Given the description of an element on the screen output the (x, y) to click on. 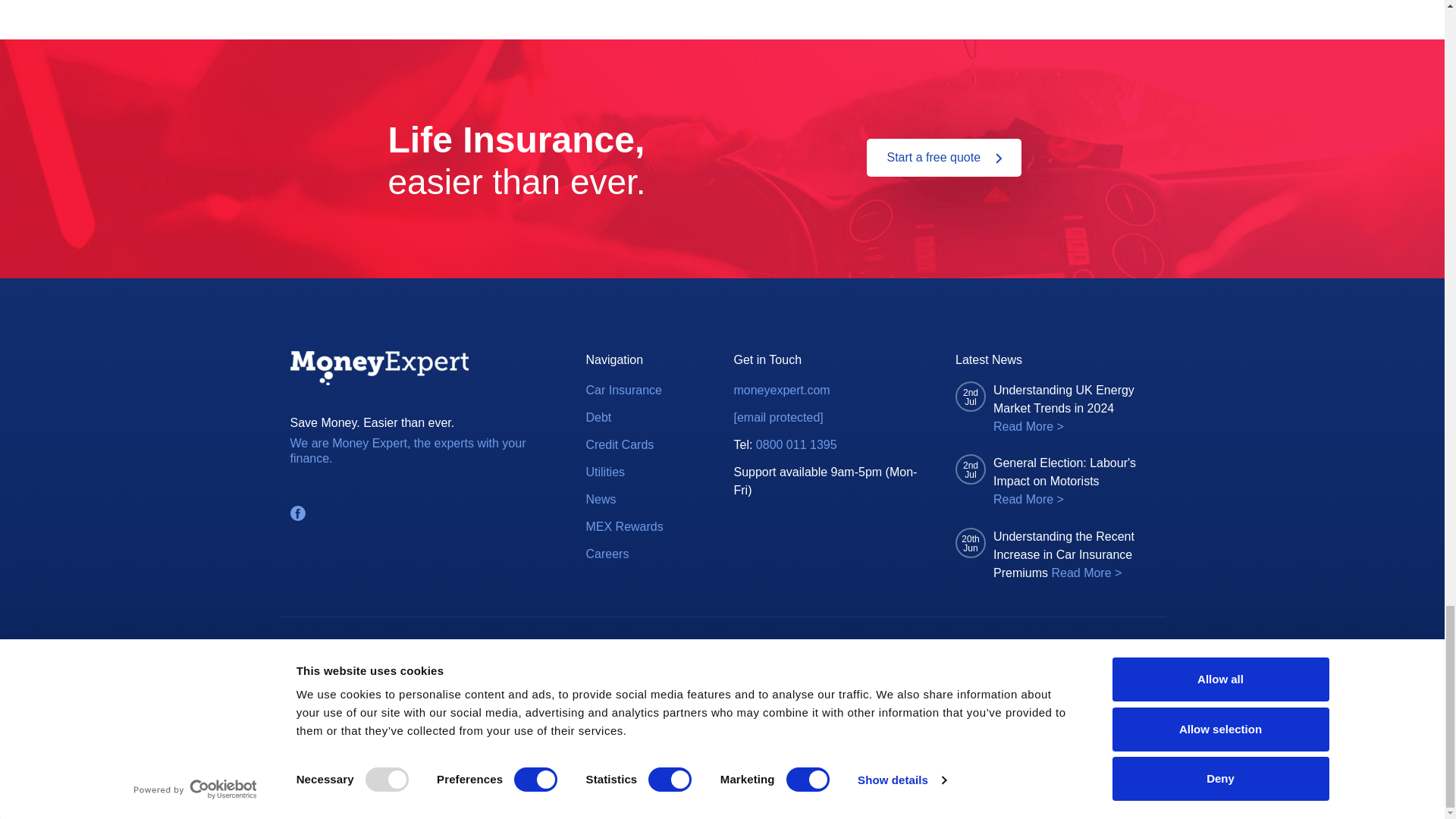
Car Insurance (623, 390)
Rewards (606, 554)
Debt Management (598, 417)
Complaints (459, 645)
News (600, 499)
Facebook Profile (296, 513)
Utilities (604, 472)
Preferences (595, 645)
Credit Cards (619, 444)
Rewards (623, 526)
